Given the description of an element on the screen output the (x, y) to click on. 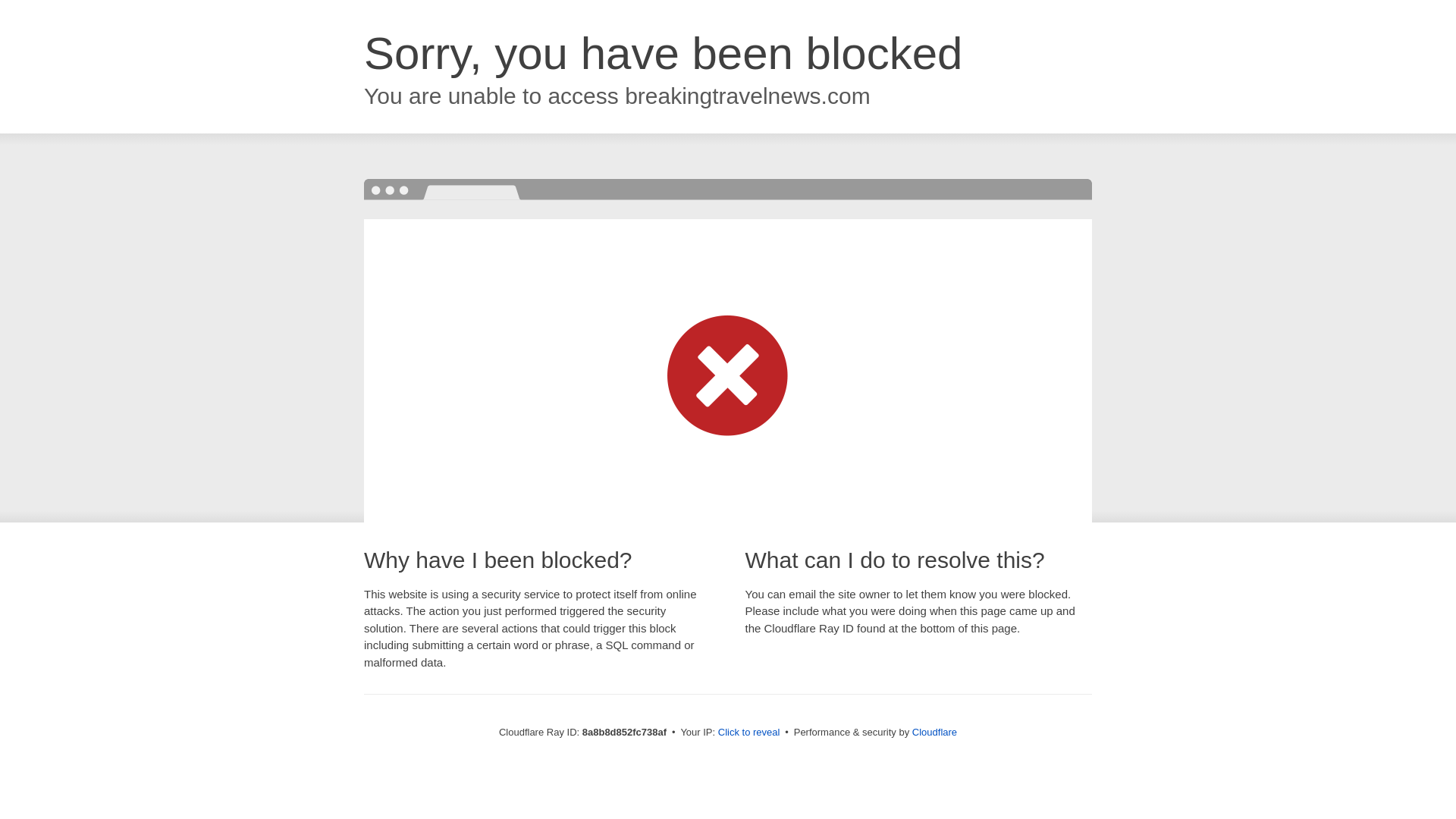
Cloudflare (934, 731)
Click to reveal (748, 732)
